Given the description of an element on the screen output the (x, y) to click on. 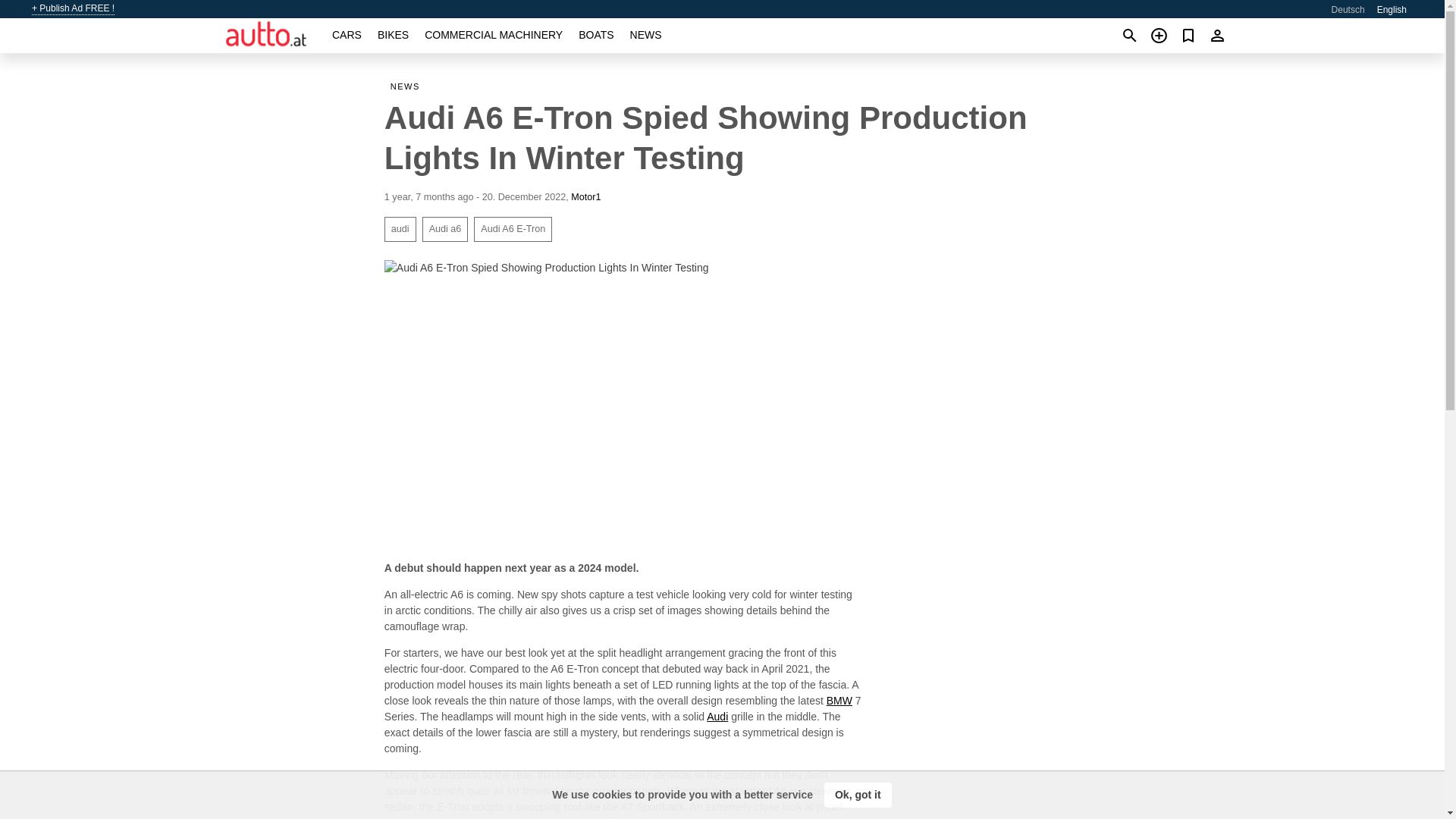
NEWS (408, 86)
COMMERCIAL MACHINERY (493, 35)
BOATS (595, 35)
Audi A6 E-Tron (512, 229)
CARS (346, 35)
Motor1 (584, 196)
Ok, got it (858, 795)
audi (400, 229)
Audi (717, 716)
BIKES (393, 35)
